Given the description of an element on the screen output the (x, y) to click on. 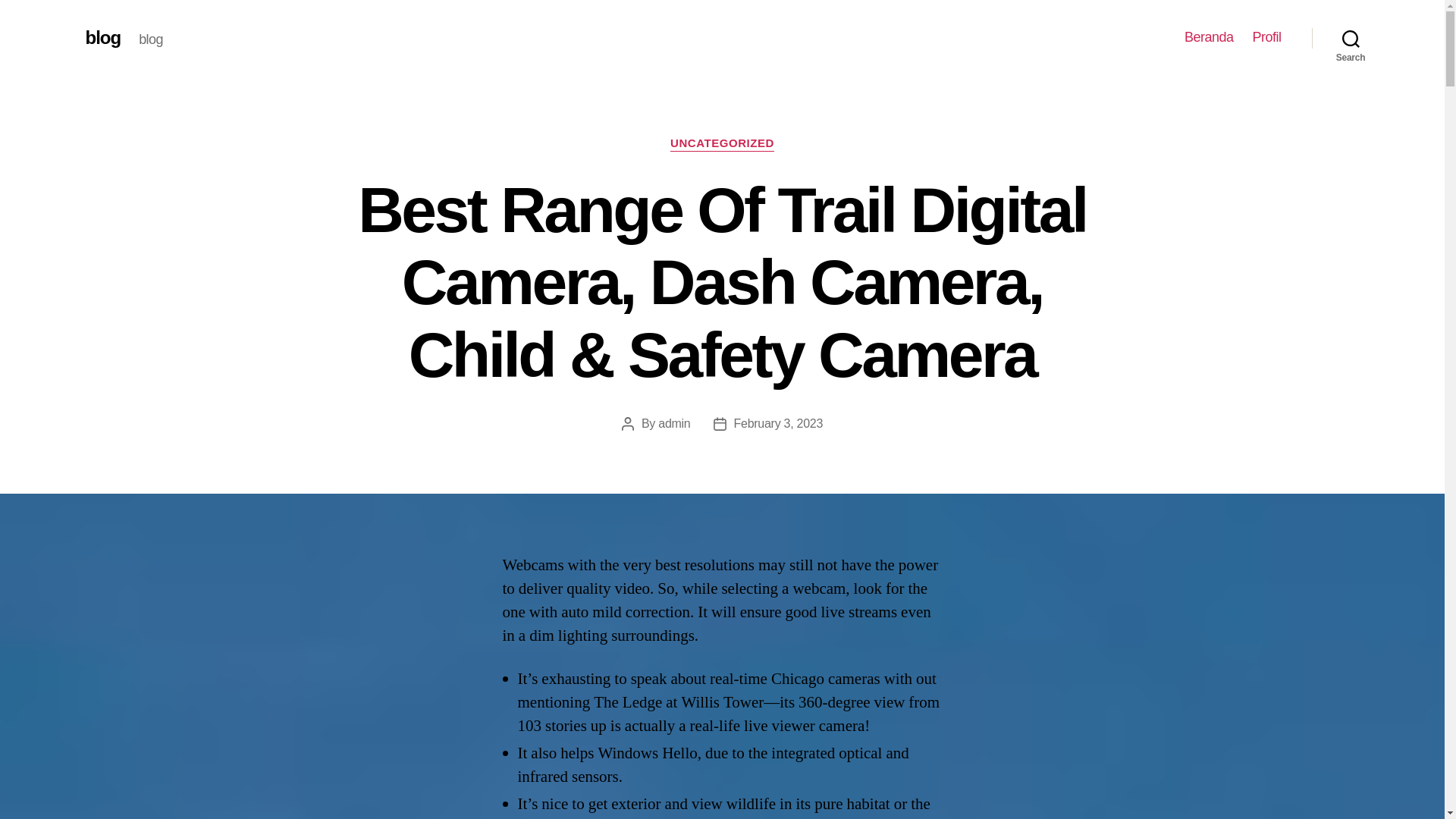
Search (1350, 37)
February 3, 2023 (778, 422)
admin (674, 422)
Beranda (1209, 37)
UNCATEGORIZED (721, 143)
Profil (1266, 37)
blog (102, 37)
